Given the description of an element on the screen output the (x, y) to click on. 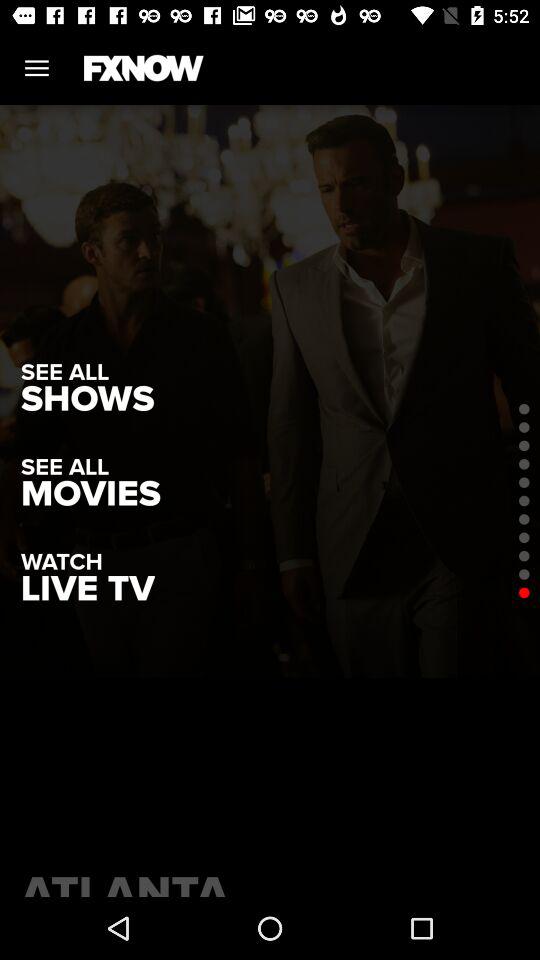
flip until live tv icon (87, 588)
